Given the description of an element on the screen output the (x, y) to click on. 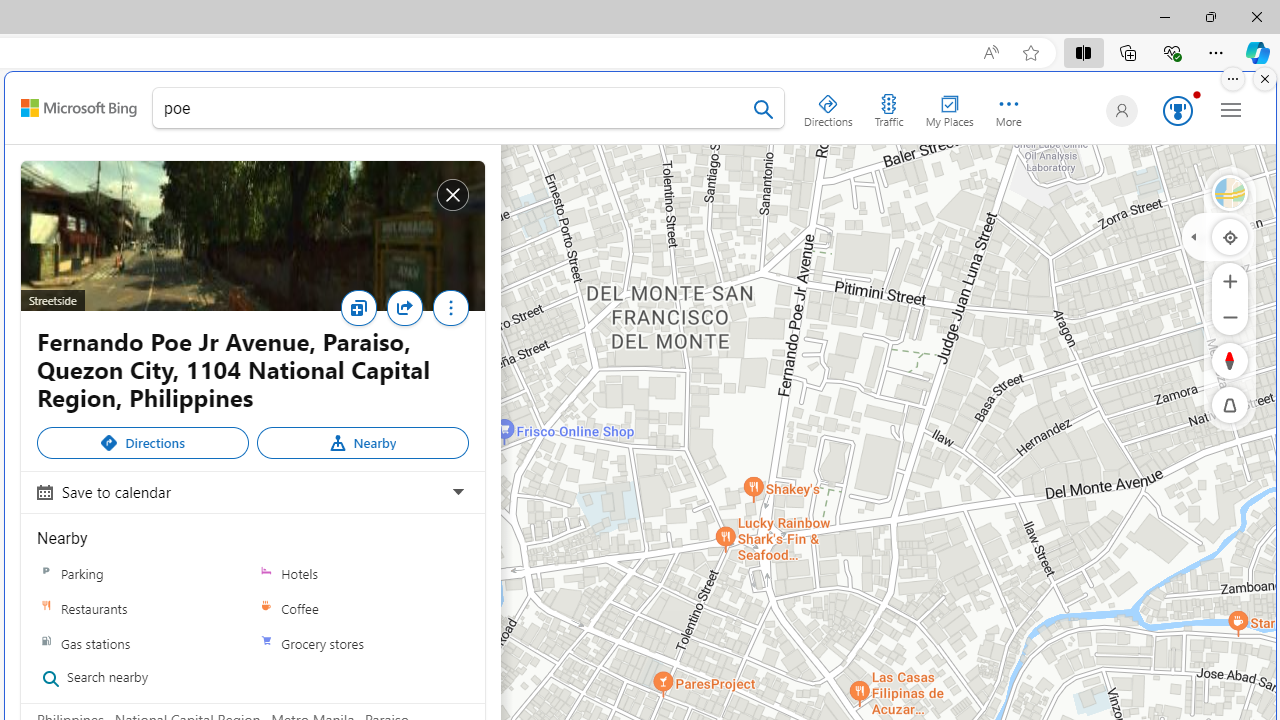
Grocery stores (362, 642)
